Given the description of an element on the screen output the (x, y) to click on. 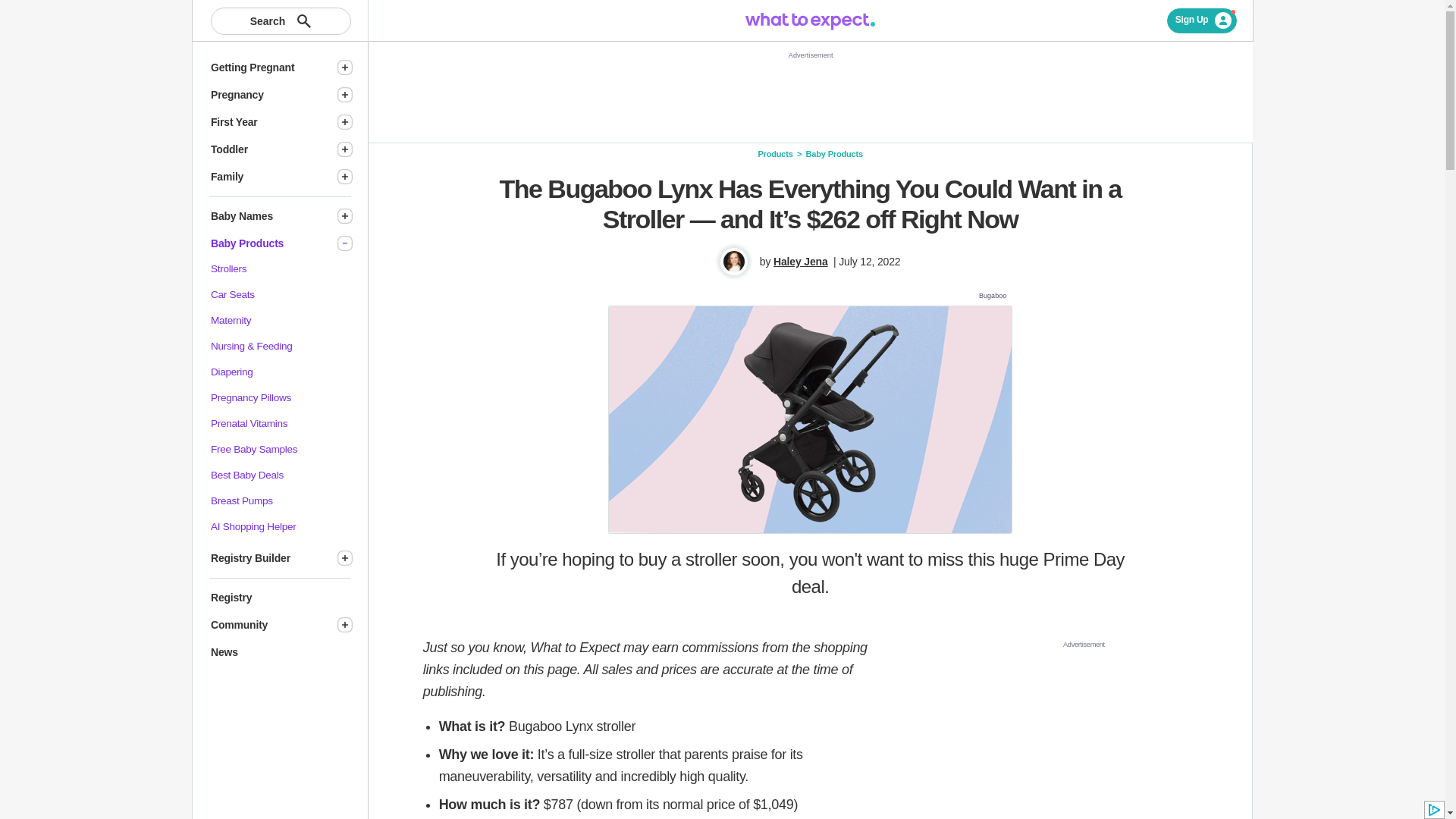
First Year (267, 122)
Getting Pregnant (267, 67)
Pregnancy (267, 94)
Sign Up (1202, 20)
Search (280, 21)
